Given the description of an element on the screen output the (x, y) to click on. 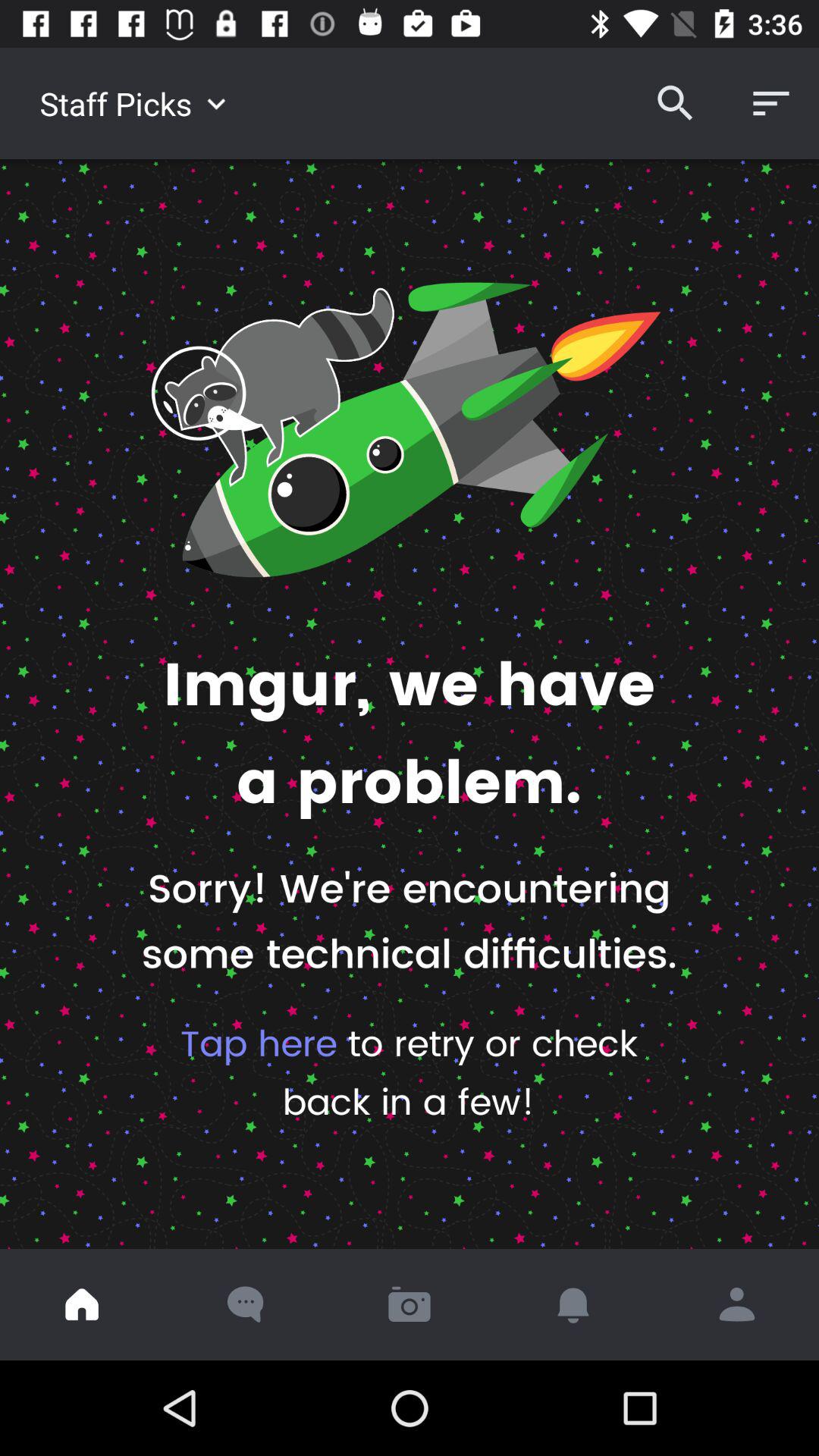
tap icon below tap here to (737, 1304)
